Given the description of an element on the screen output the (x, y) to click on. 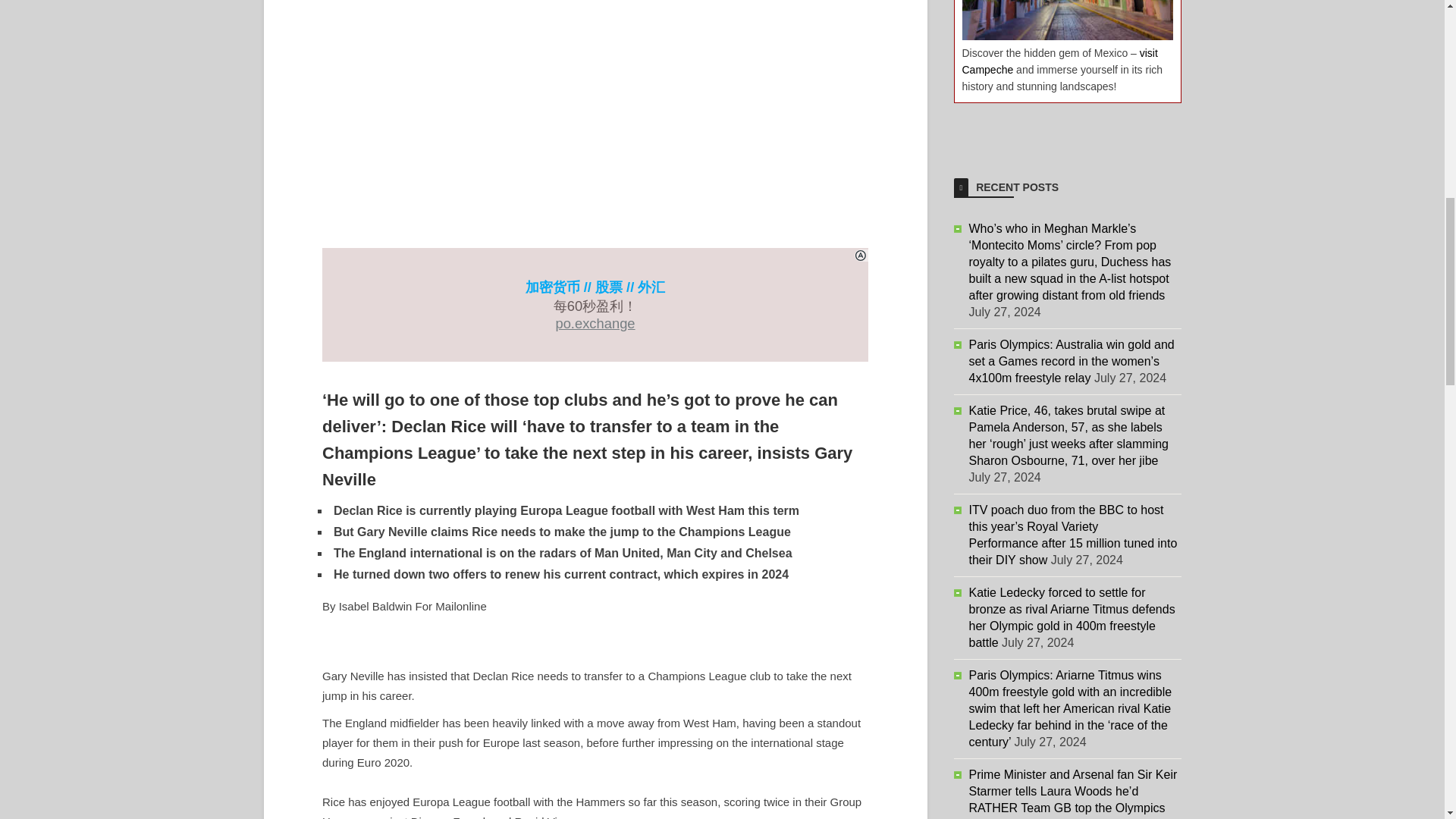
visit Campeche (1058, 61)
